Given the description of an element on the screen output the (x, y) to click on. 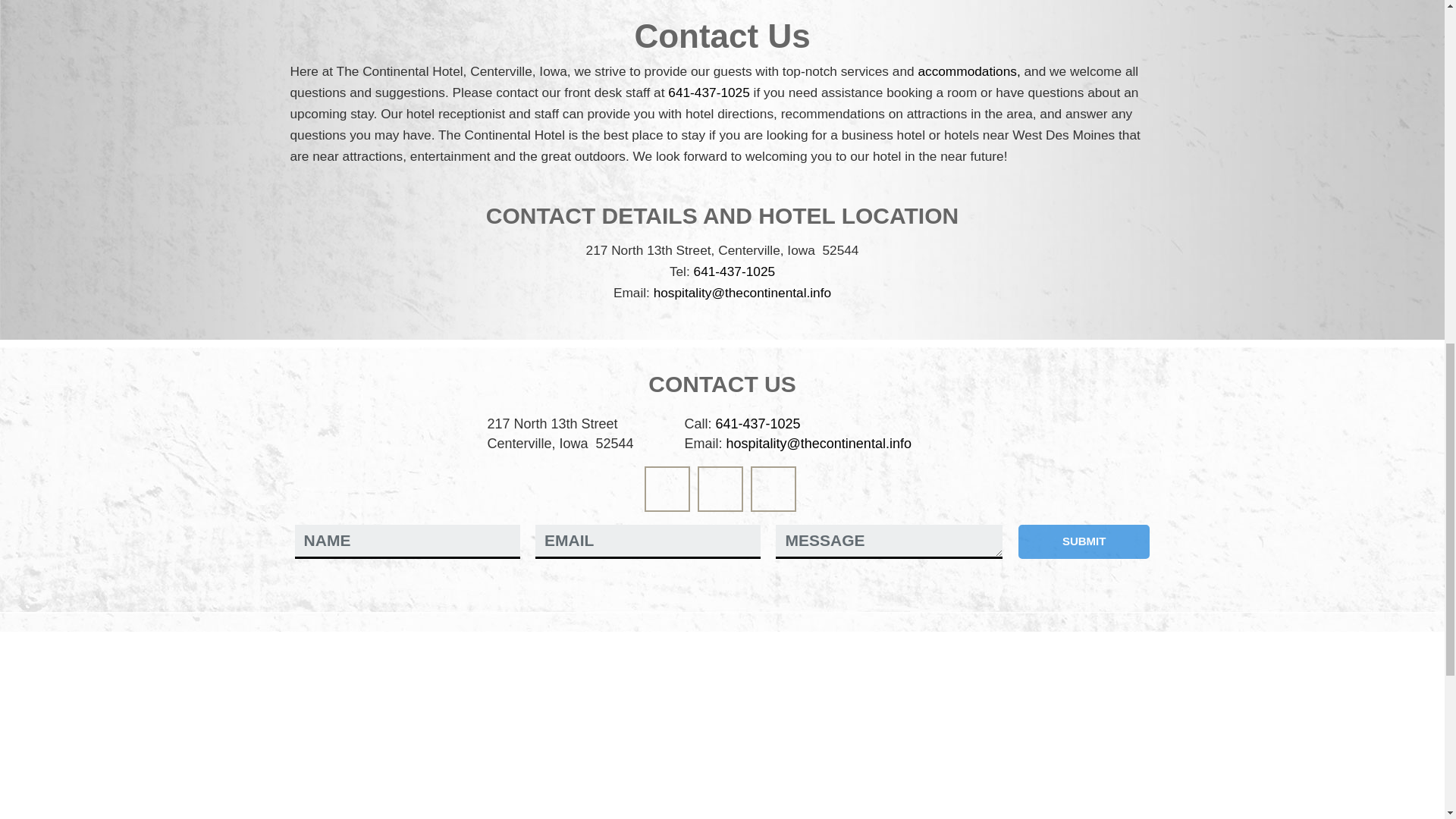
accommodations, (968, 70)
641-437-1025 (708, 92)
